Given the description of an element on the screen output the (x, y) to click on. 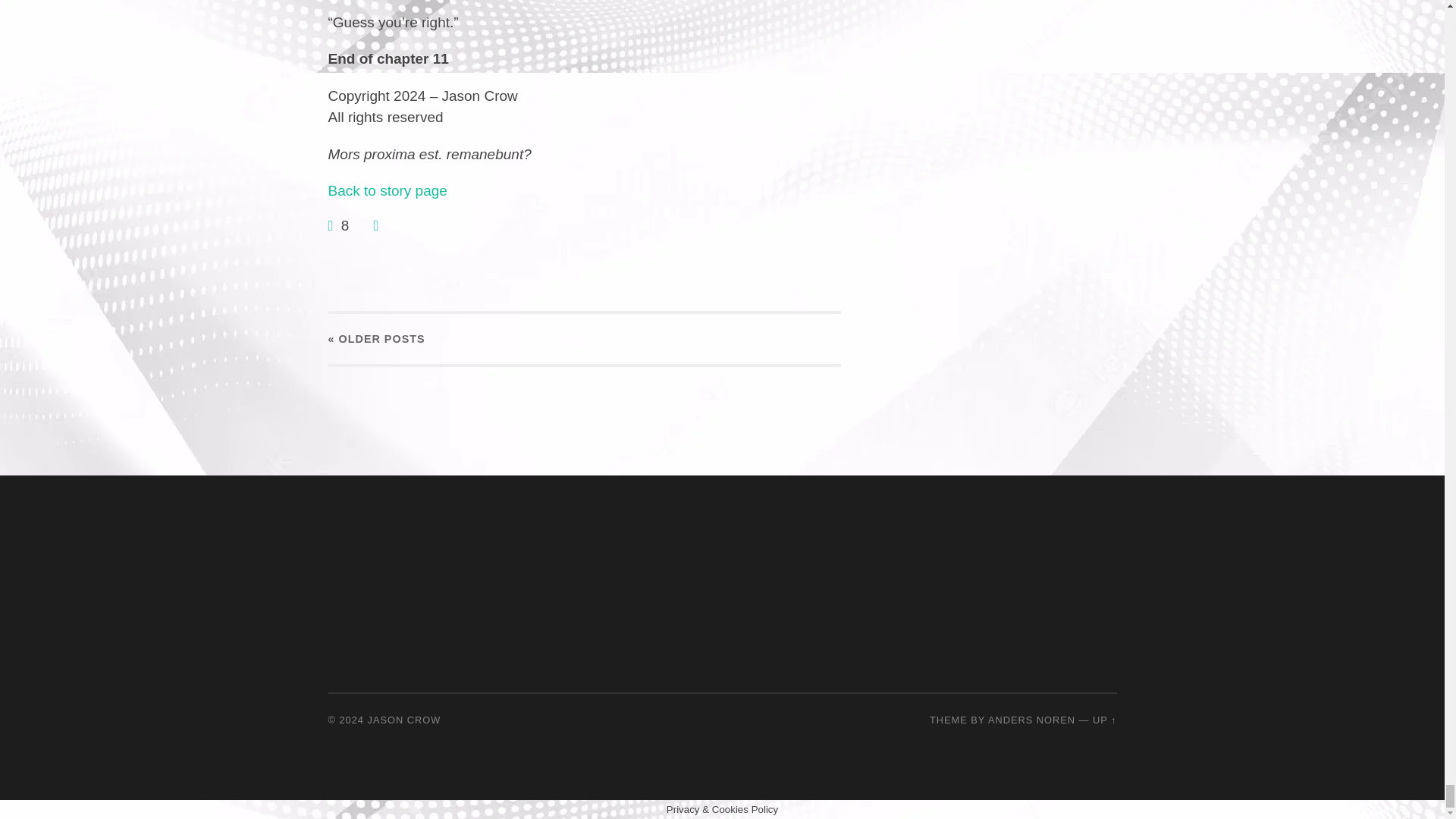
Aetheria (386, 190)
